Given the description of an element on the screen output the (x, y) to click on. 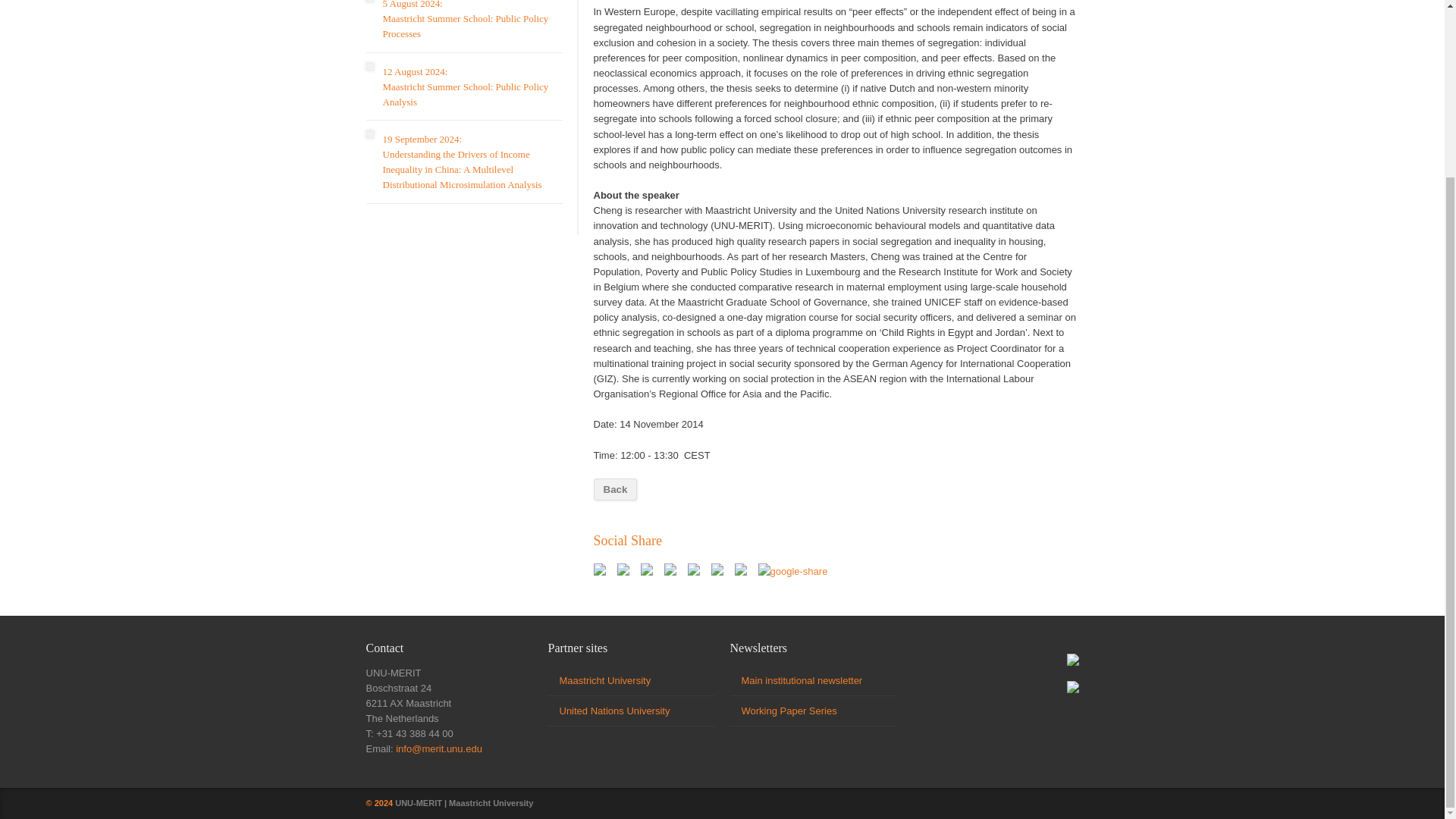
Back (614, 489)
